Given the description of an element on the screen output the (x, y) to click on. 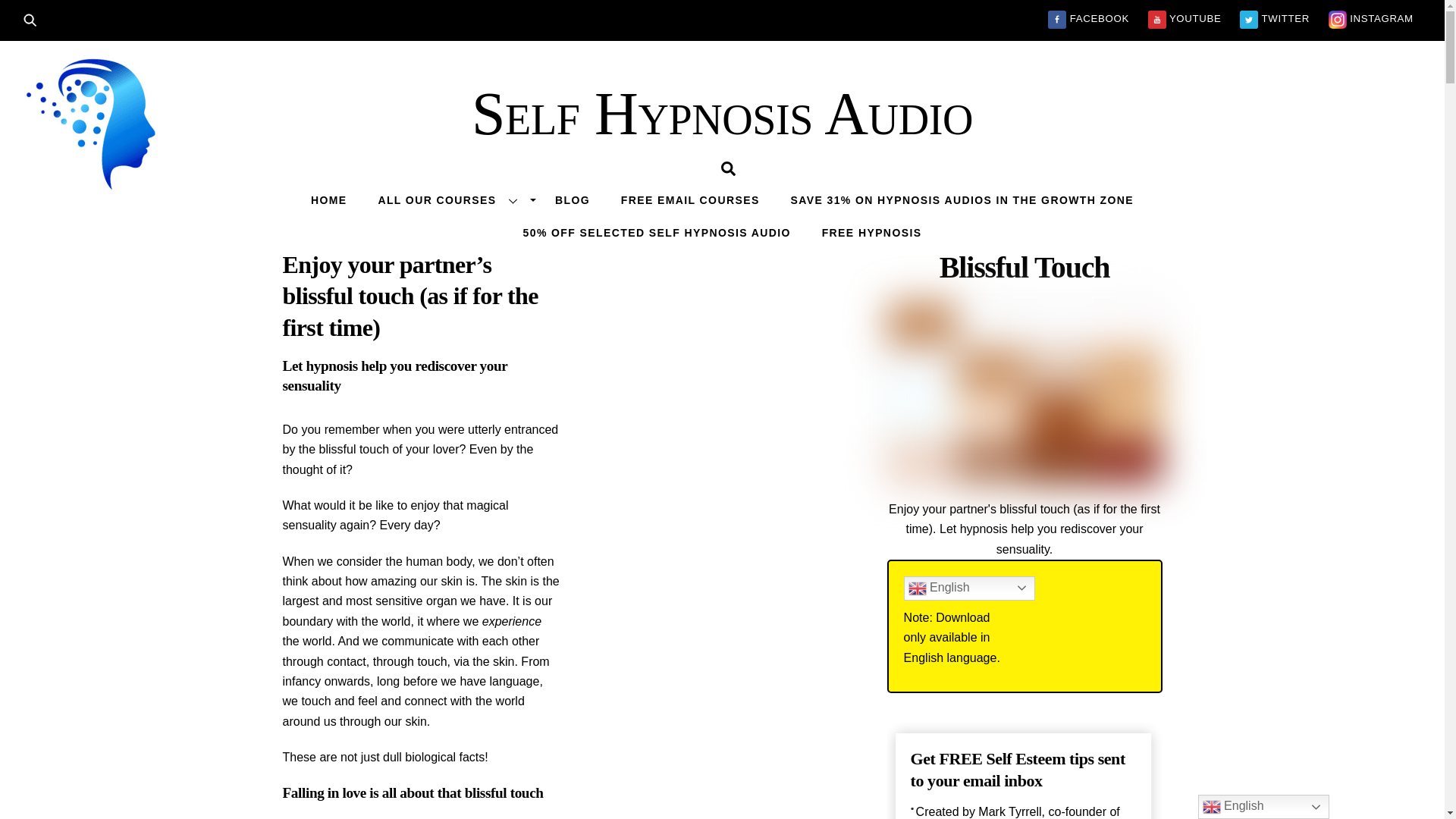
TWITTER (1274, 18)
Blissful Touch (1023, 392)
YOUTUBE (1184, 18)
Search (727, 168)
FACEBOOK (1088, 18)
INSTAGRAM (1370, 18)
Self Hypnosis Audio (721, 113)
Search (35, 18)
HOME (328, 199)
ALL OUR COURSES (450, 199)
